Given the description of an element on the screen output the (x, y) to click on. 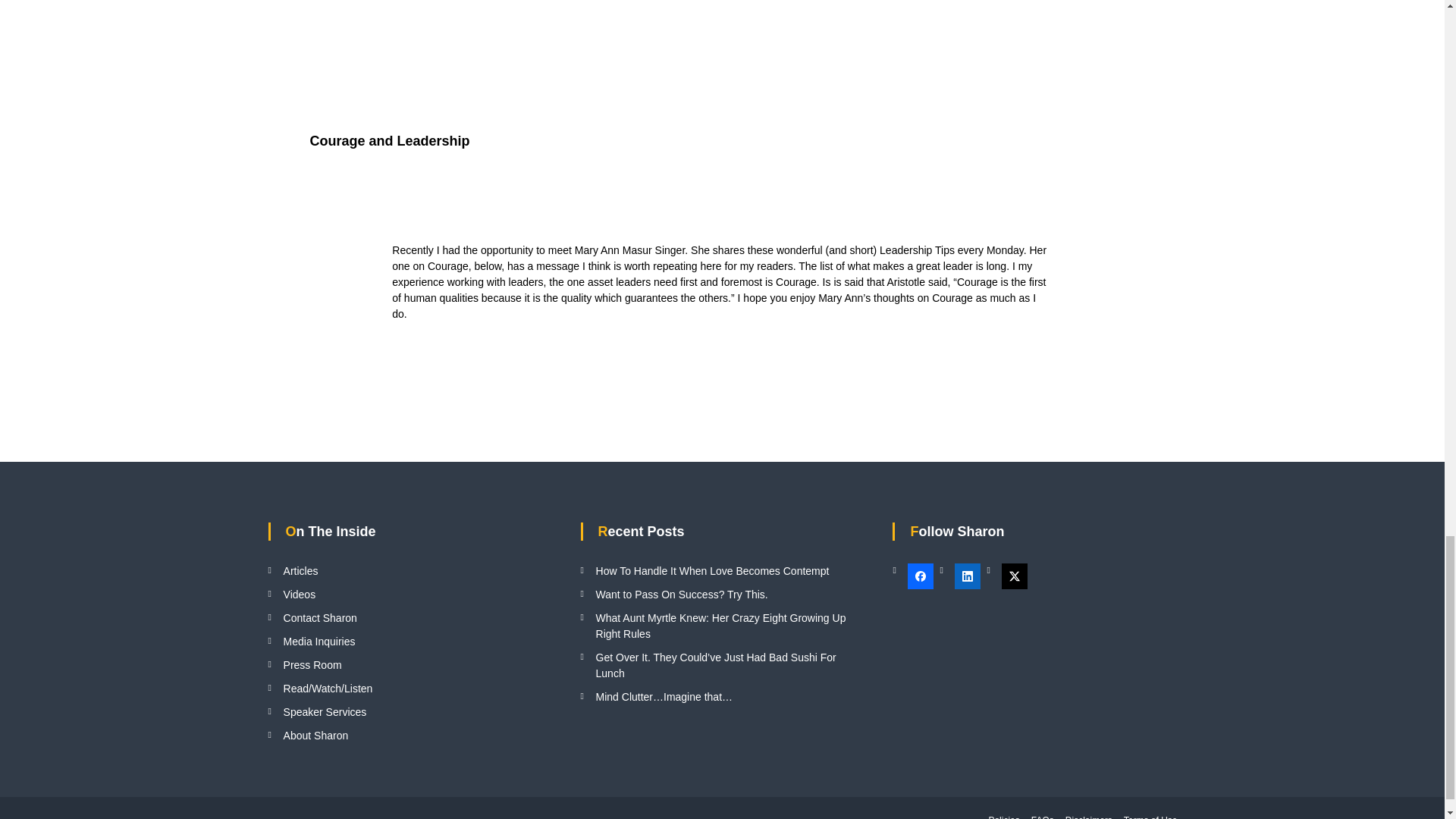
Linkedin (967, 575)
Media Inquiries (319, 641)
Twitter "X" (1014, 575)
Contact Sharon (319, 617)
Courage and Leadership (388, 140)
Policies (1003, 816)
Want to Pass On Success? Try This. (681, 594)
Videos (299, 594)
About Sharon (316, 735)
